Given the description of an element on the screen output the (x, y) to click on. 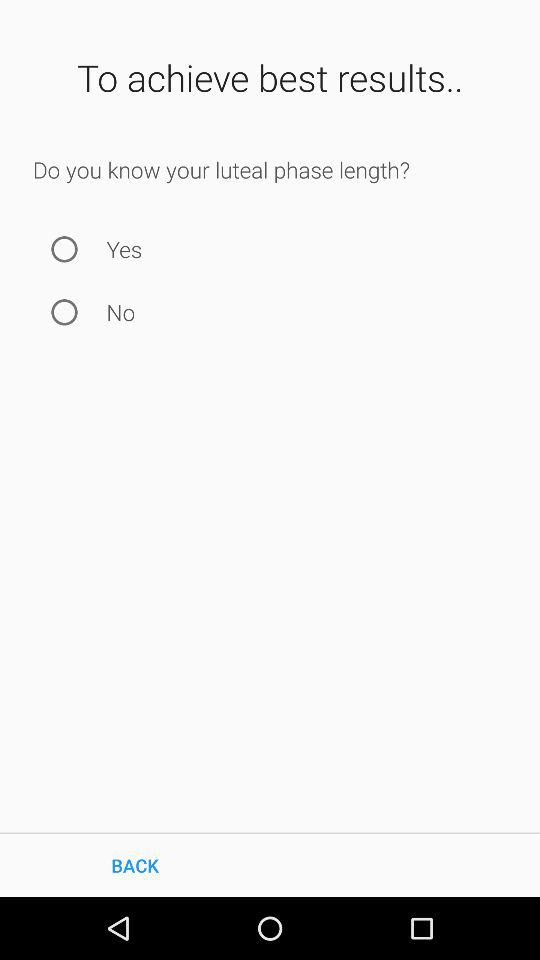
launch the icon at the bottom left corner (135, 864)
